Given the description of an element on the screen output the (x, y) to click on. 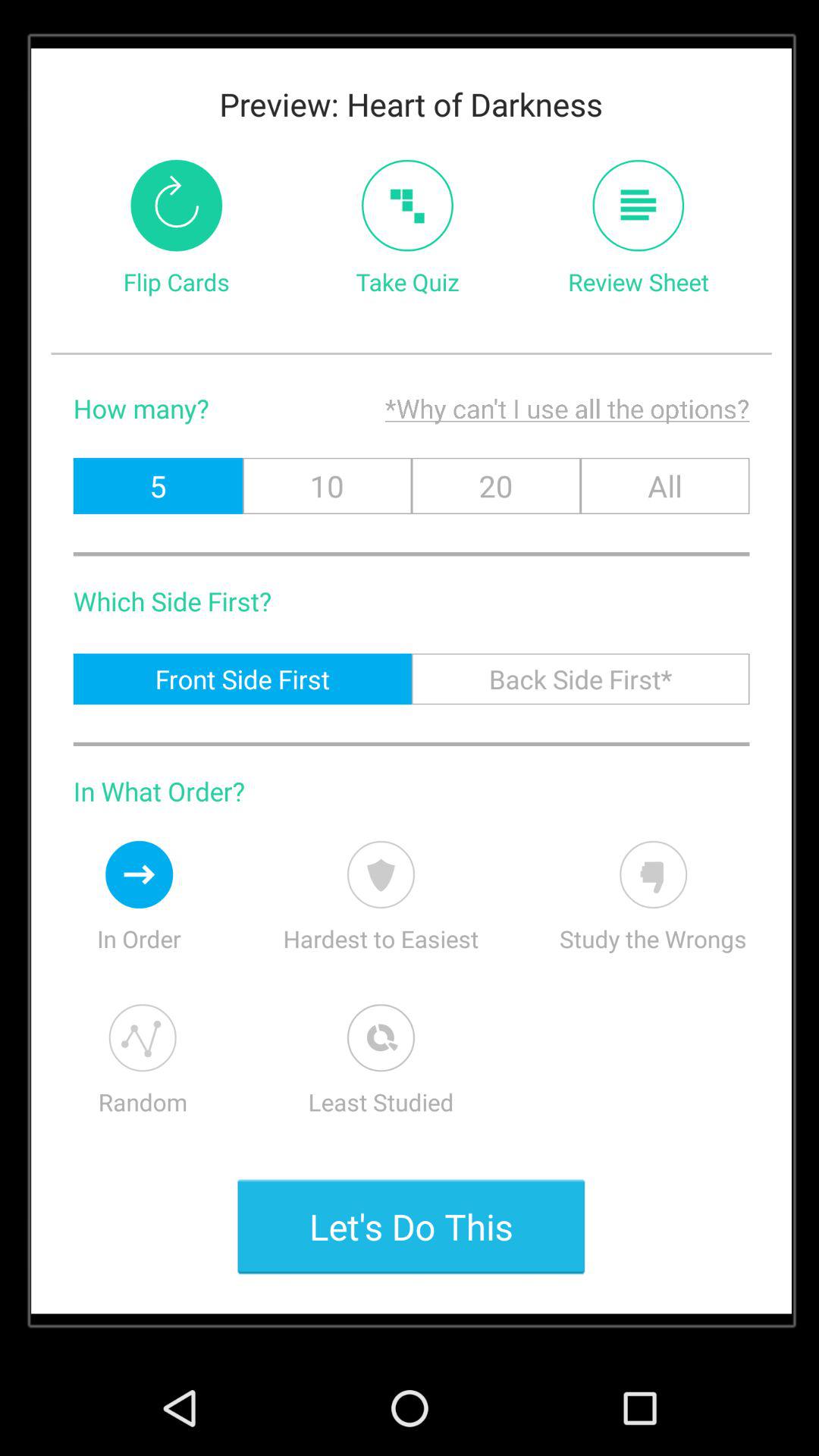
take quiz (407, 205)
